Given the description of an element on the screen output the (x, y) to click on. 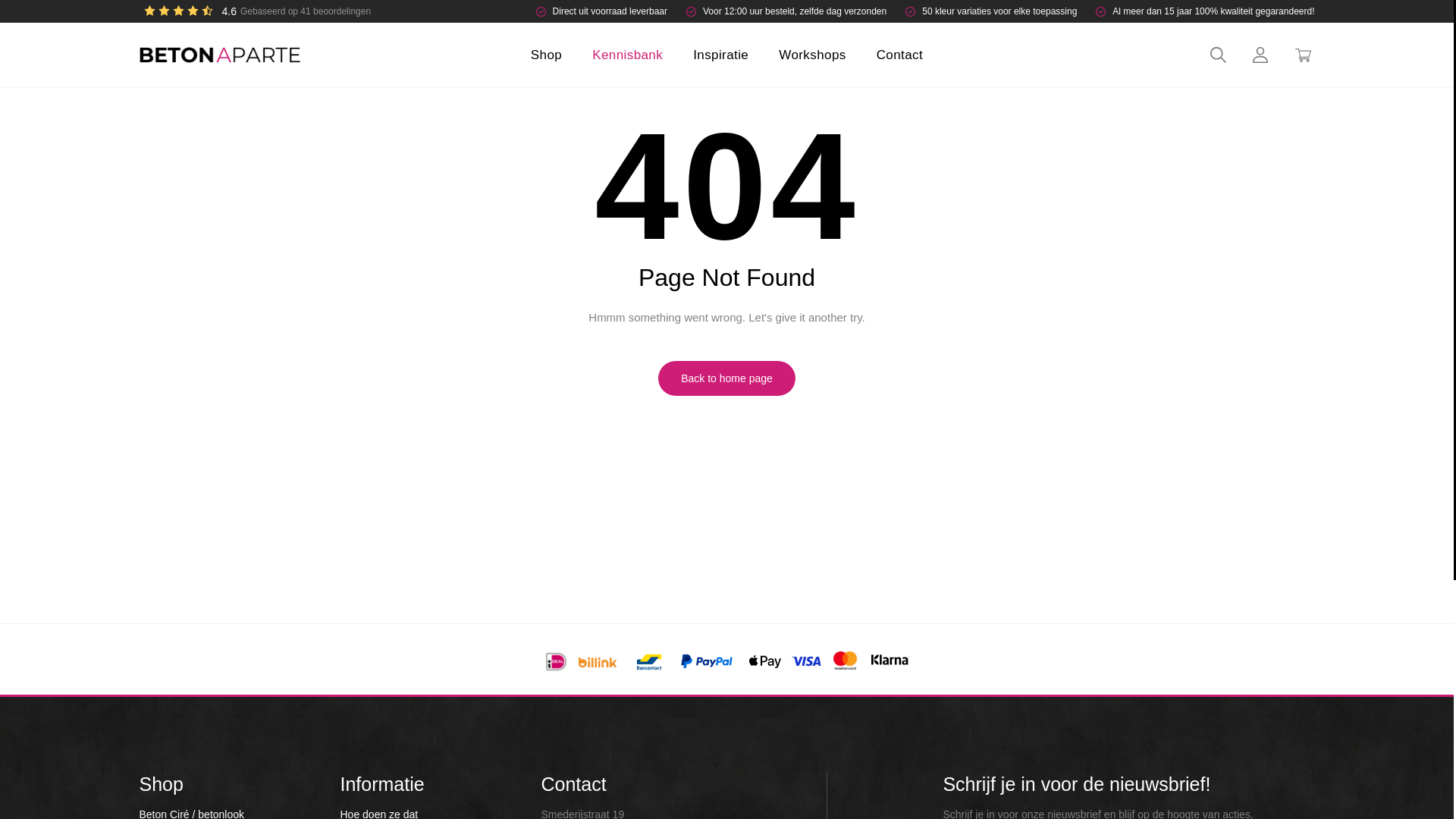
Zoeken Element type: text (1195, 54)
View your shopping cart Element type: hover (1303, 54)
Search Element type: text (1218, 54)
Inspiratie Element type: text (720, 54)
Workshops Element type: text (811, 54)
Contact Element type: text (899, 54)
Back to home page Element type: text (726, 377)
account Element type: text (1260, 54)
Shop Element type: text (546, 54)
Kennisbank Element type: text (627, 54)
Beton Aparte Element type: text (172, 57)
Beton Aparte Element type: text (255, 10)
